Given the description of an element on the screen output the (x, y) to click on. 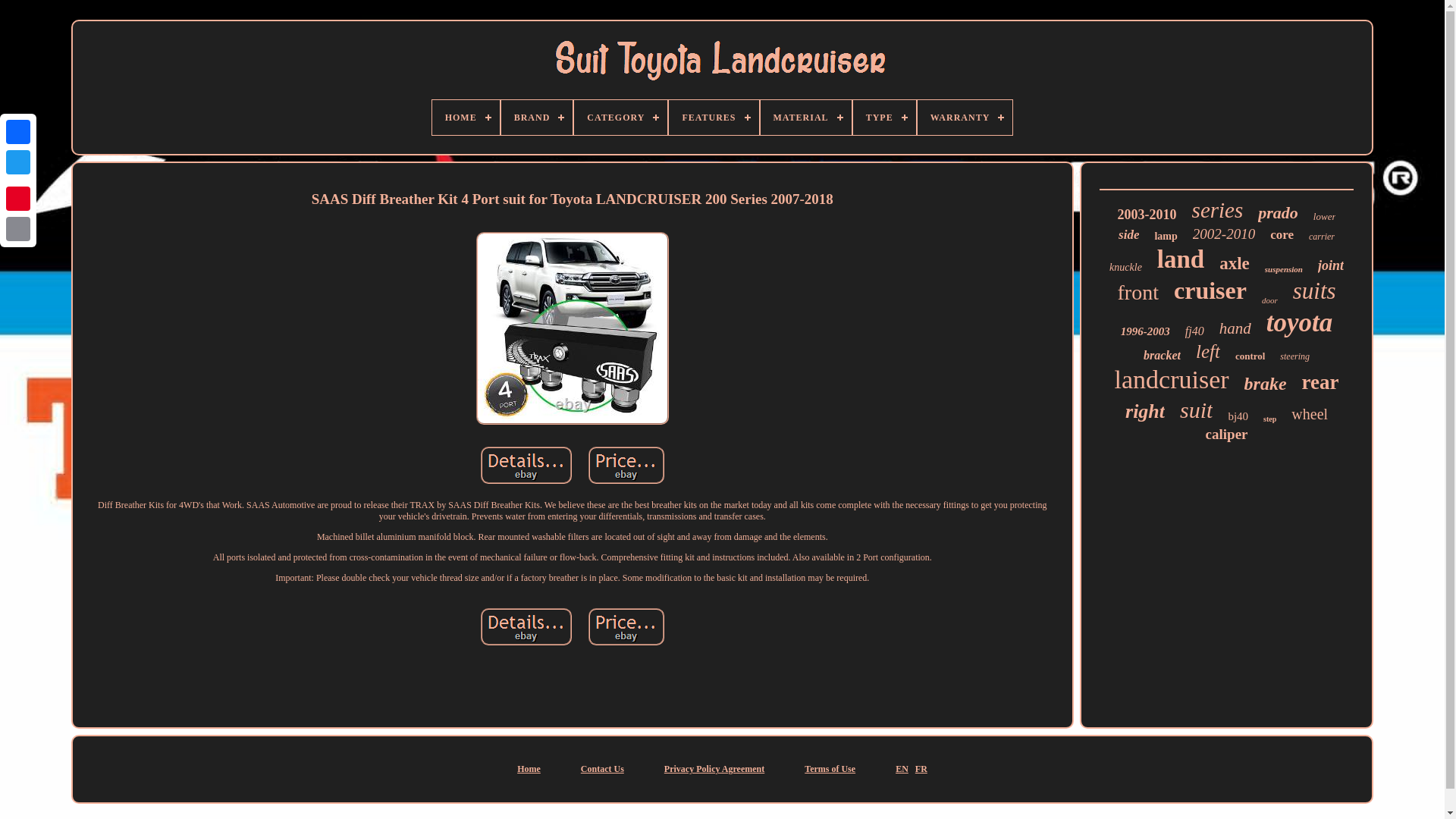
BRAND (536, 117)
HOME (465, 117)
CATEGORY (619, 117)
